Given the description of an element on the screen output the (x, y) to click on. 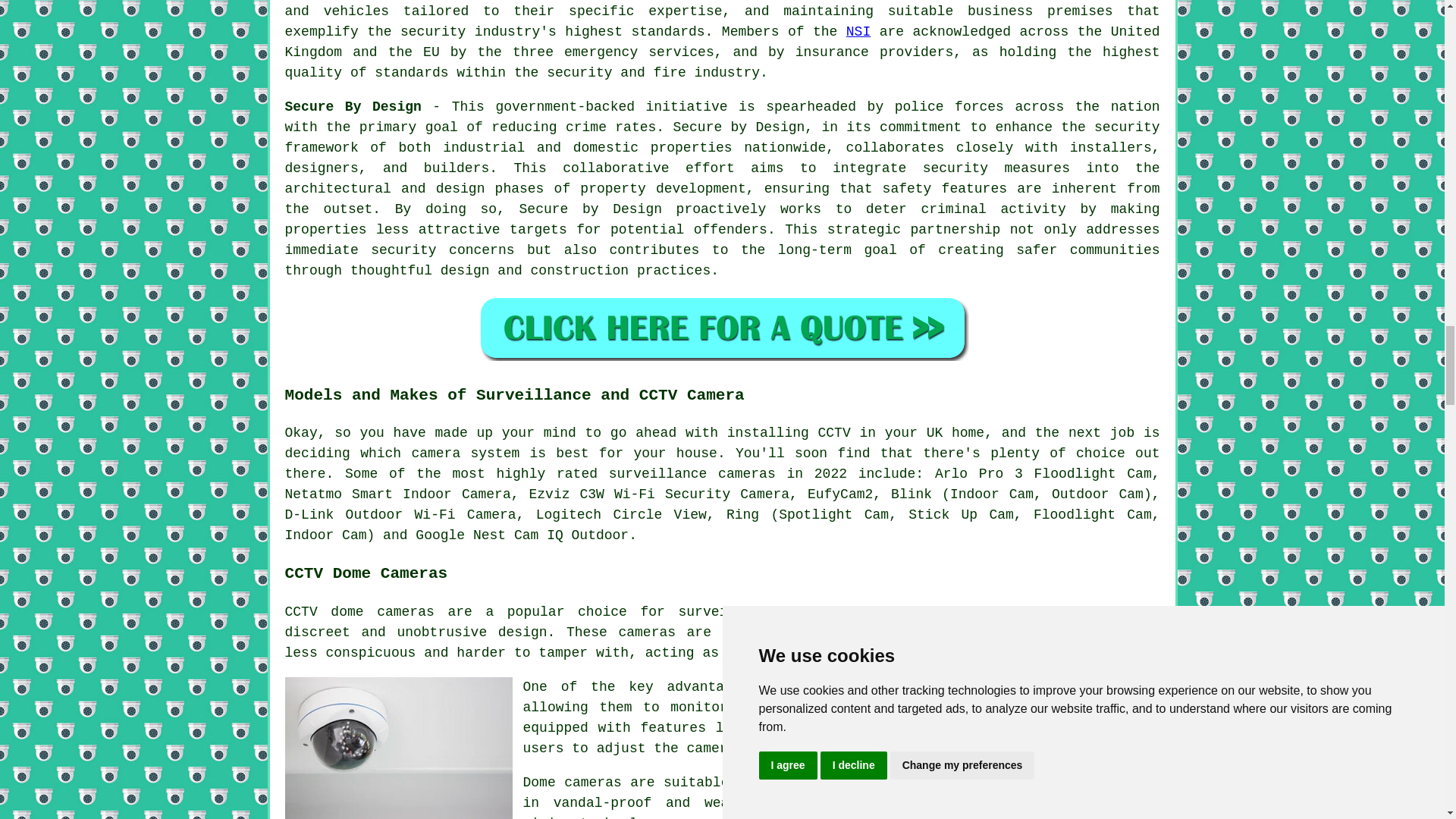
Arrange CCTV Installation in the UK (722, 327)
CCTV Dome Cameras (398, 748)
